Given the description of an element on the screen output the (x, y) to click on. 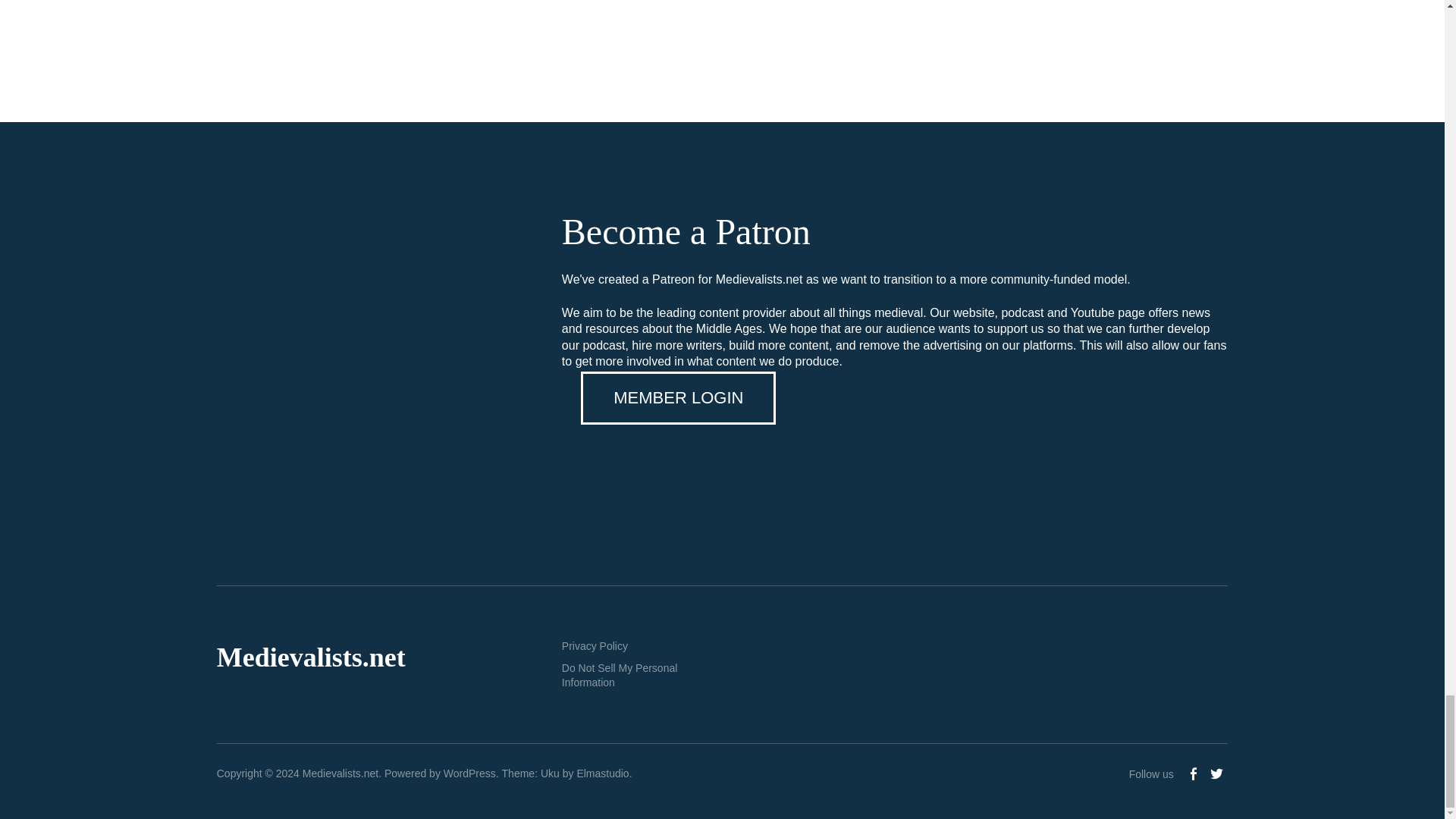
Patreon Login (678, 398)
